Given the description of an element on the screen output the (x, y) to click on. 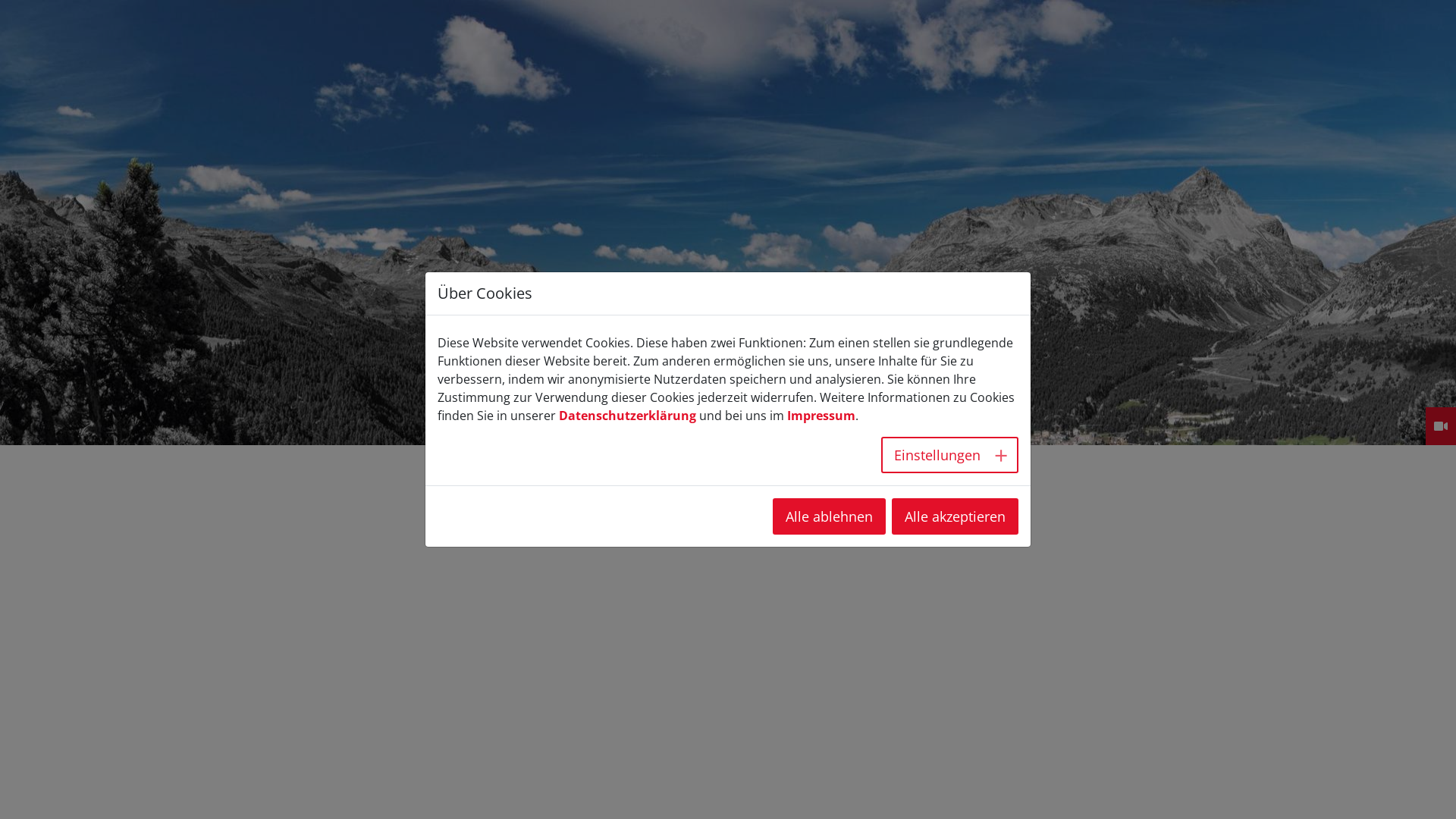
Einstellungen Element type: text (949, 454)
Alle ablehnen Element type: text (828, 516)
Impressum Element type: text (821, 415)
Alle akzeptieren Element type: text (954, 516)
